Given the description of an element on the screen output the (x, y) to click on. 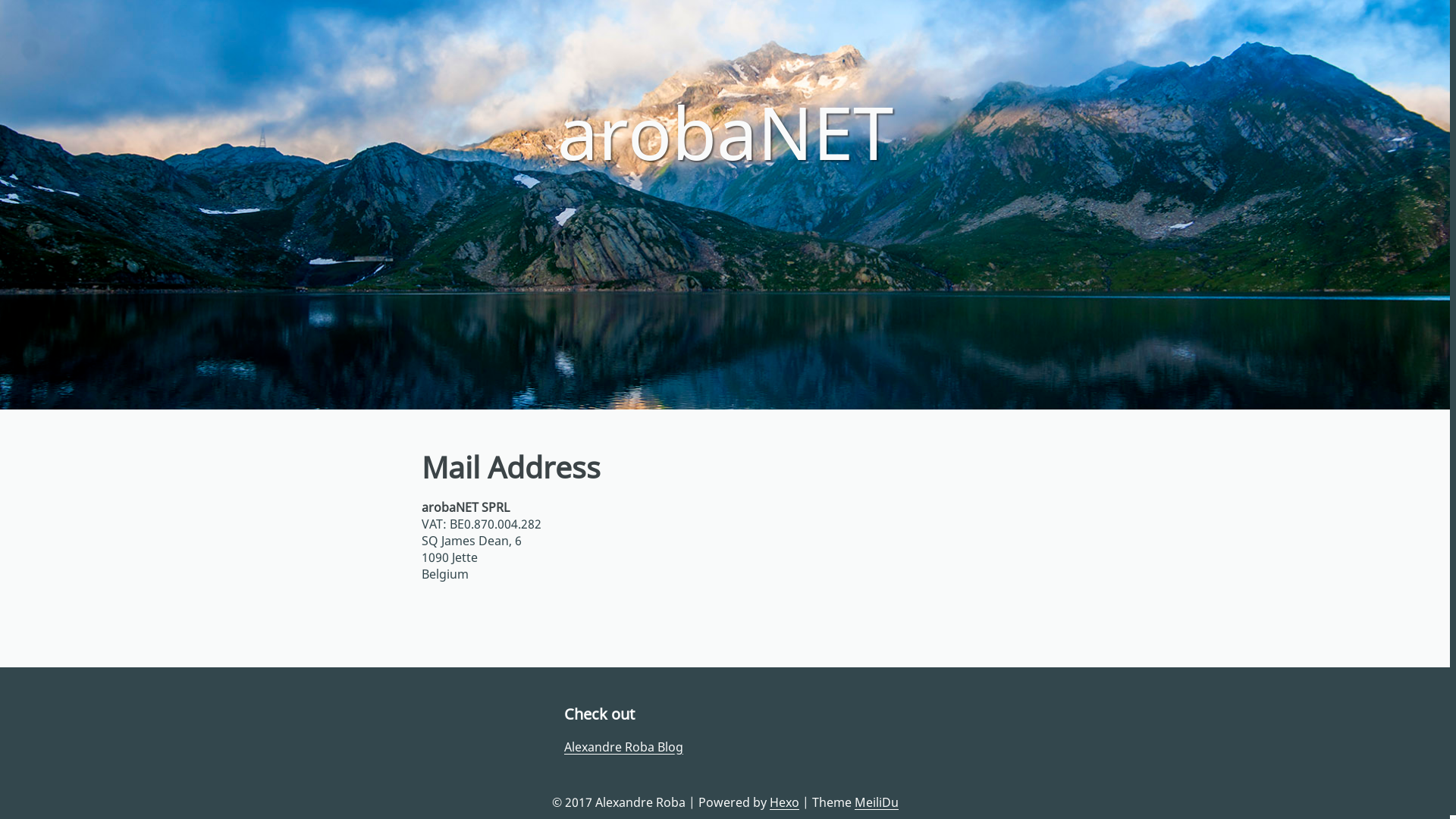
Hexo Element type: text (783, 801)
Alexandre Roba Blog Element type: text (623, 746)
arobaNET Element type: text (724, 131)
MeiliDu Element type: text (875, 801)
